Given the description of an element on the screen output the (x, y) to click on. 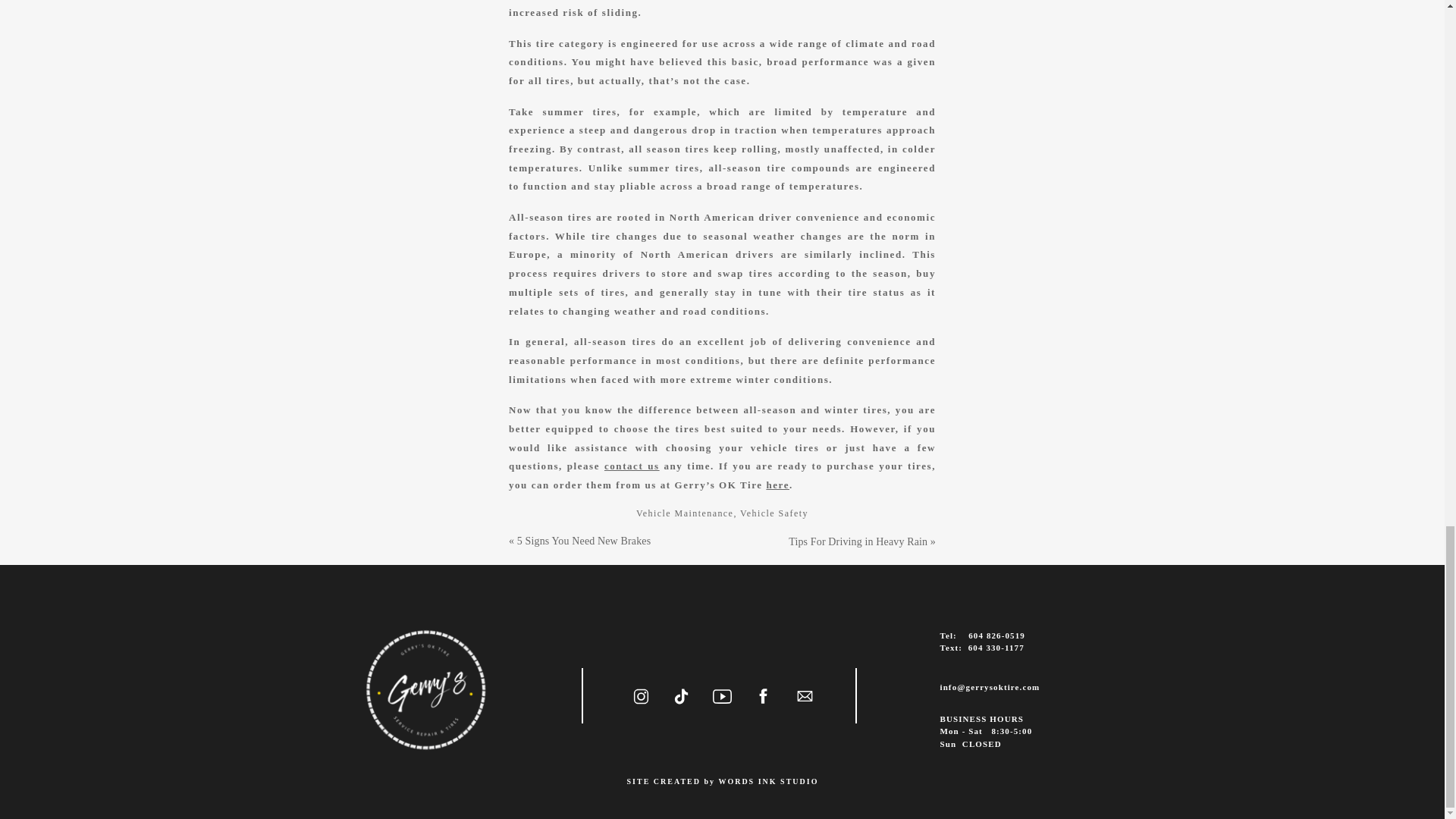
Vehicle Maintenance (684, 512)
here (777, 484)
Vehicle Safety (773, 512)
5 Signs You Need New Brakes (583, 541)
contact us (631, 465)
Tips For Driving in Heavy Rain (858, 541)
SITE CREATED by WORDS INK STUDIO (722, 785)
